Given the description of an element on the screen output the (x, y) to click on. 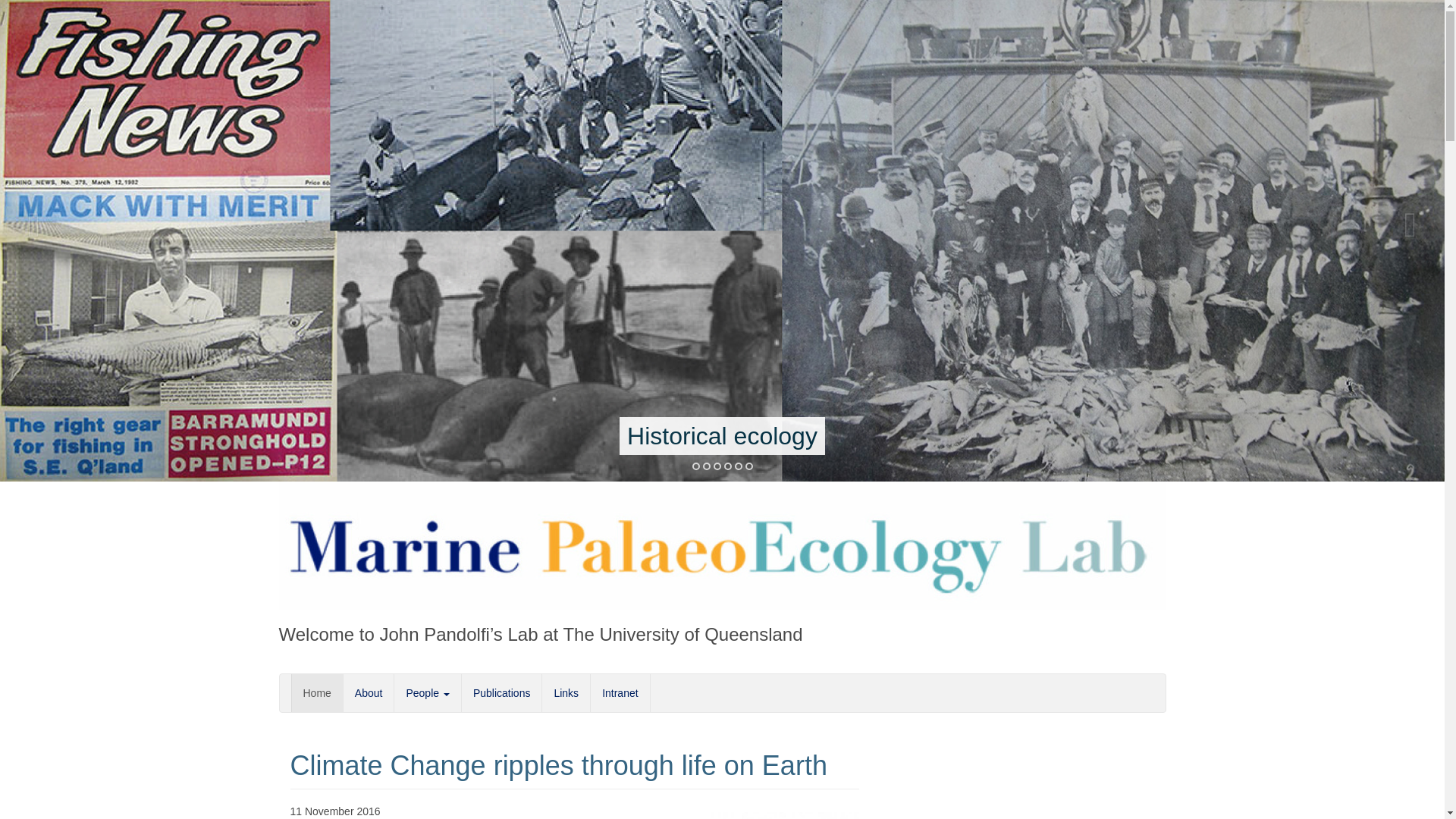
Links (565, 692)
Marine Palaeoecology (458, 699)
Home (316, 692)
Intranet (619, 692)
Links (565, 692)
People (426, 692)
About (368, 692)
Marine Palaeoecology (458, 699)
Intranet (619, 692)
Home (316, 692)
Marine Palaeoecology (722, 544)
People (426, 692)
Publications (501, 692)
About (368, 692)
Publications (501, 692)
